Given the description of an element on the screen output the (x, y) to click on. 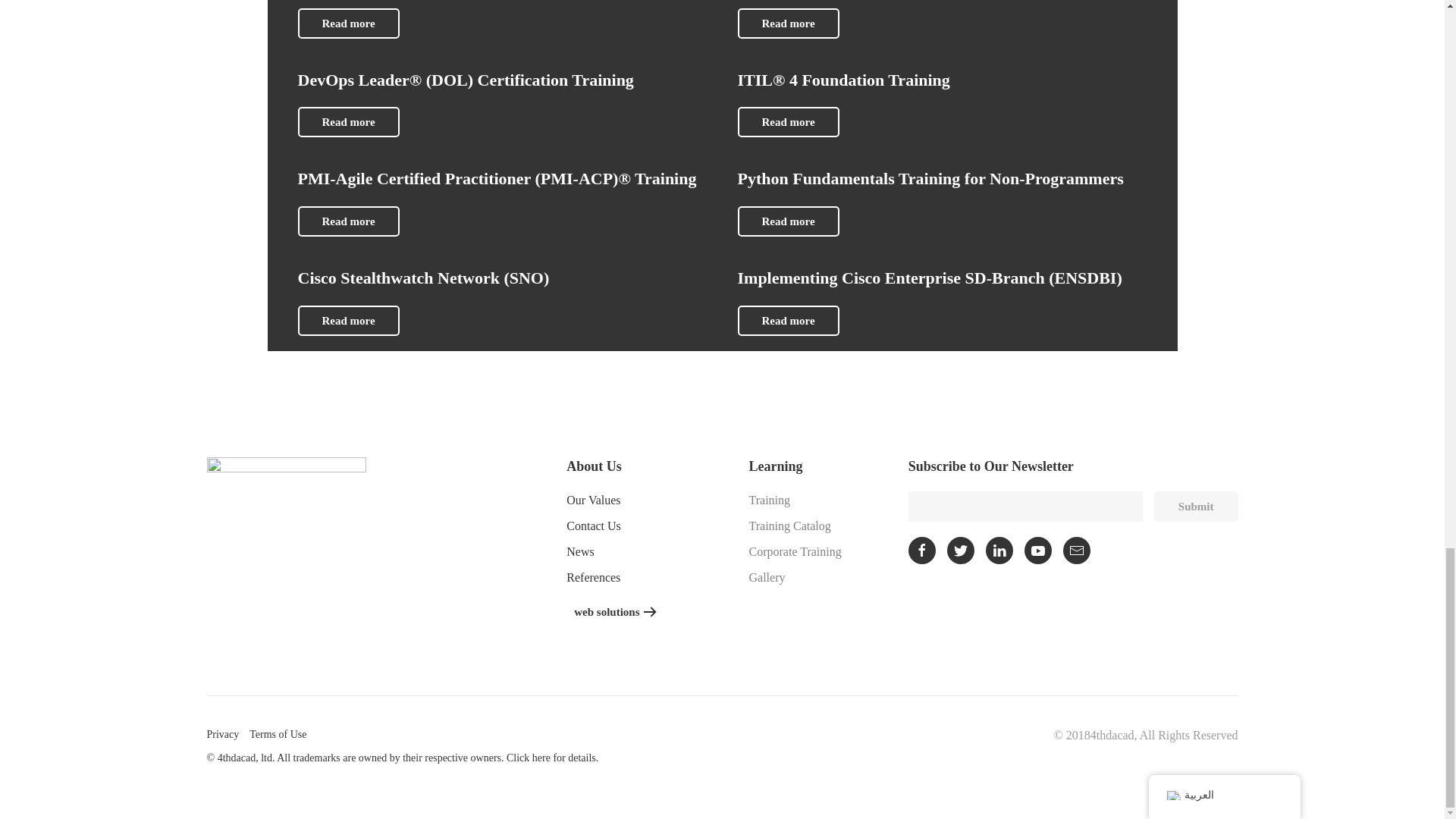
Read more (347, 23)
Read more (787, 23)
